Given the description of an element on the screen output the (x, y) to click on. 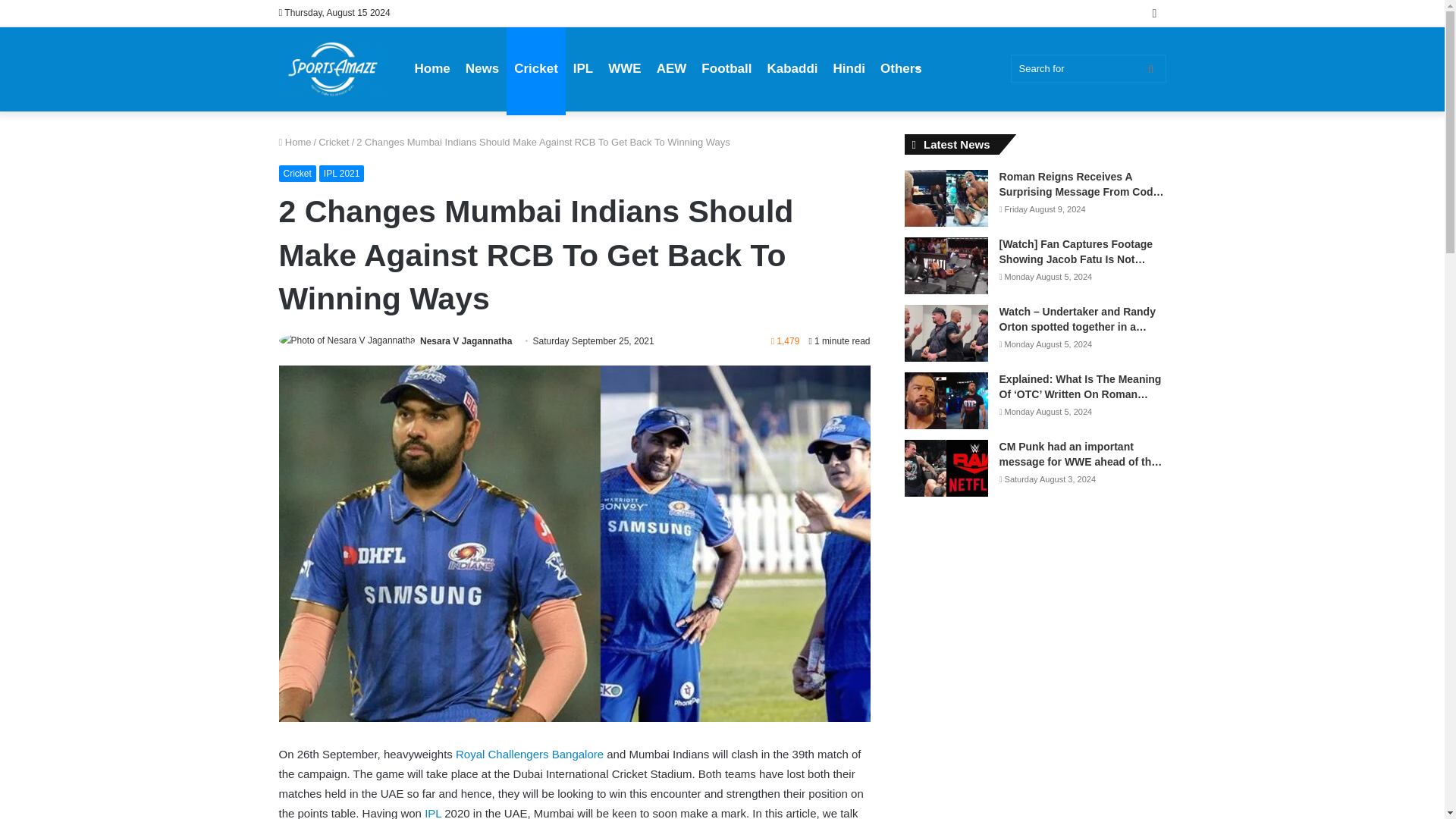
Home (295, 142)
Cricket (333, 142)
Cricket (297, 173)
Nesara V Jagannatha (466, 340)
IPL (433, 812)
Search for (1088, 68)
IPL 2021 (341, 173)
Royal Challengers Bangalore (529, 753)
Nesara V Jagannatha (466, 340)
Sports Amaze (333, 68)
